Given the description of an element on the screen output the (x, y) to click on. 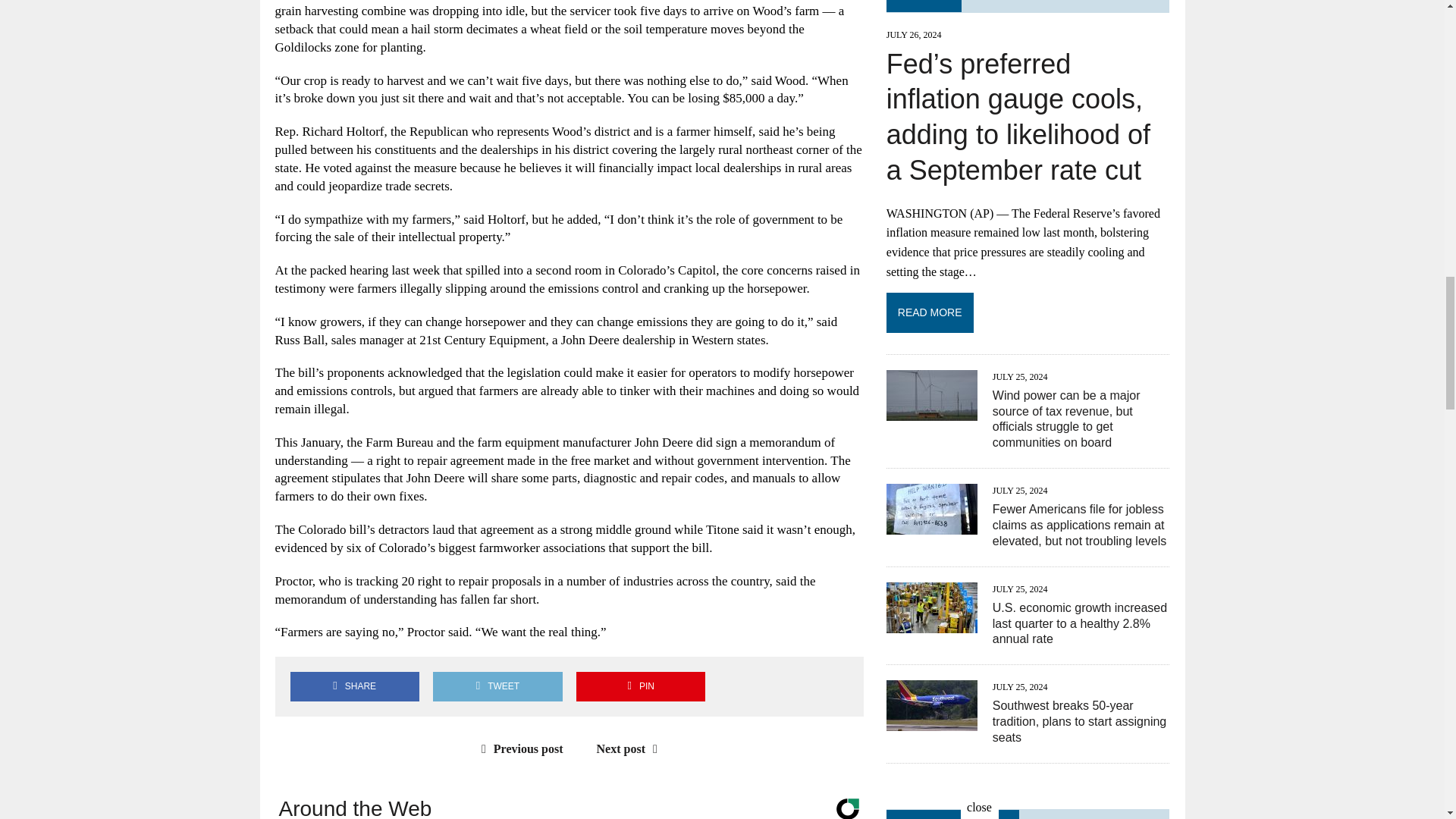
Share on Facebook (354, 686)
Pin This Post (640, 686)
Tweet This Post (497, 686)
